Given the description of an element on the screen output the (x, y) to click on. 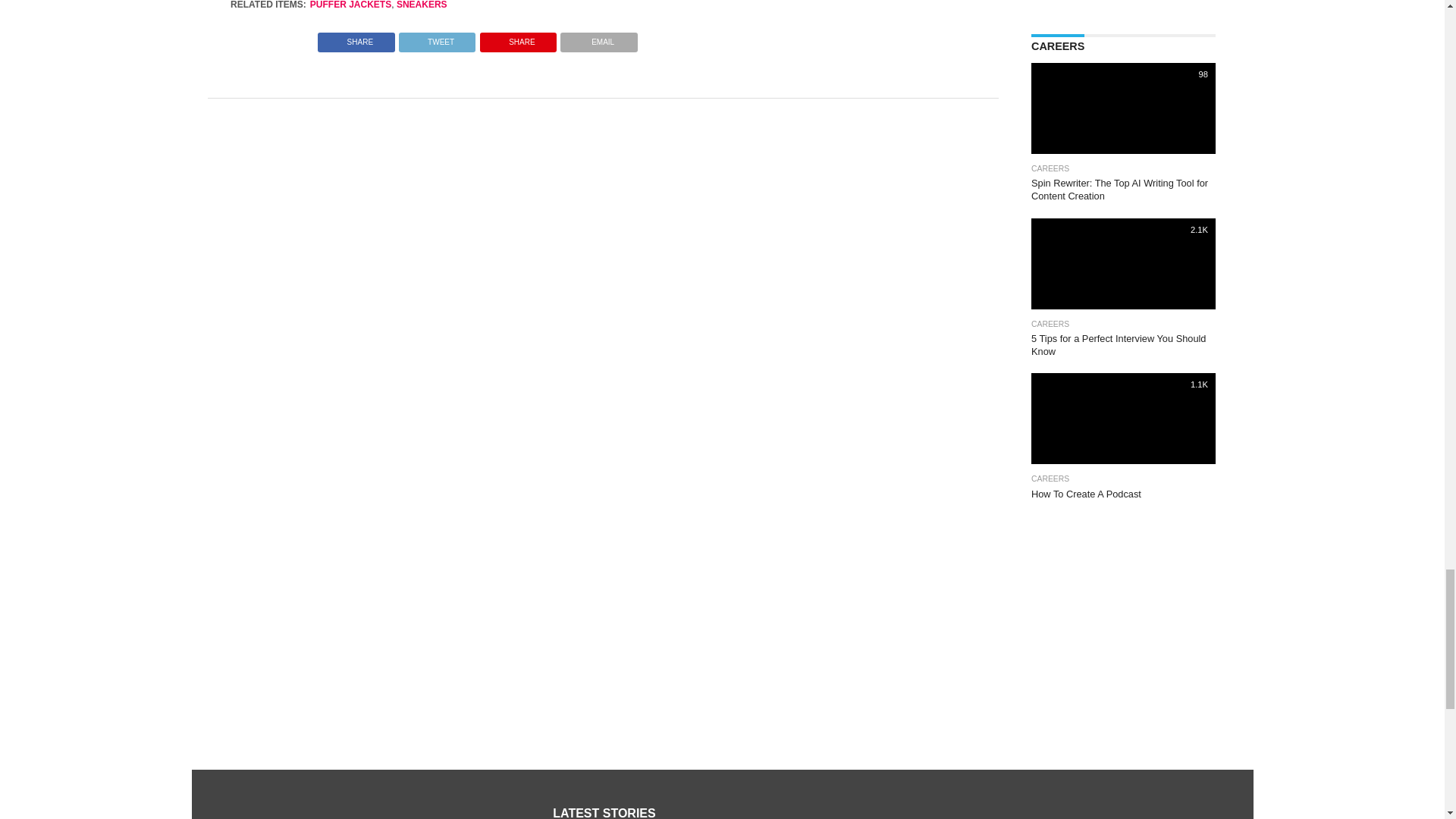
Tweet This Post (436, 38)
Share on Facebook (355, 38)
Pin This Post (517, 38)
